Given the description of an element on the screen output the (x, y) to click on. 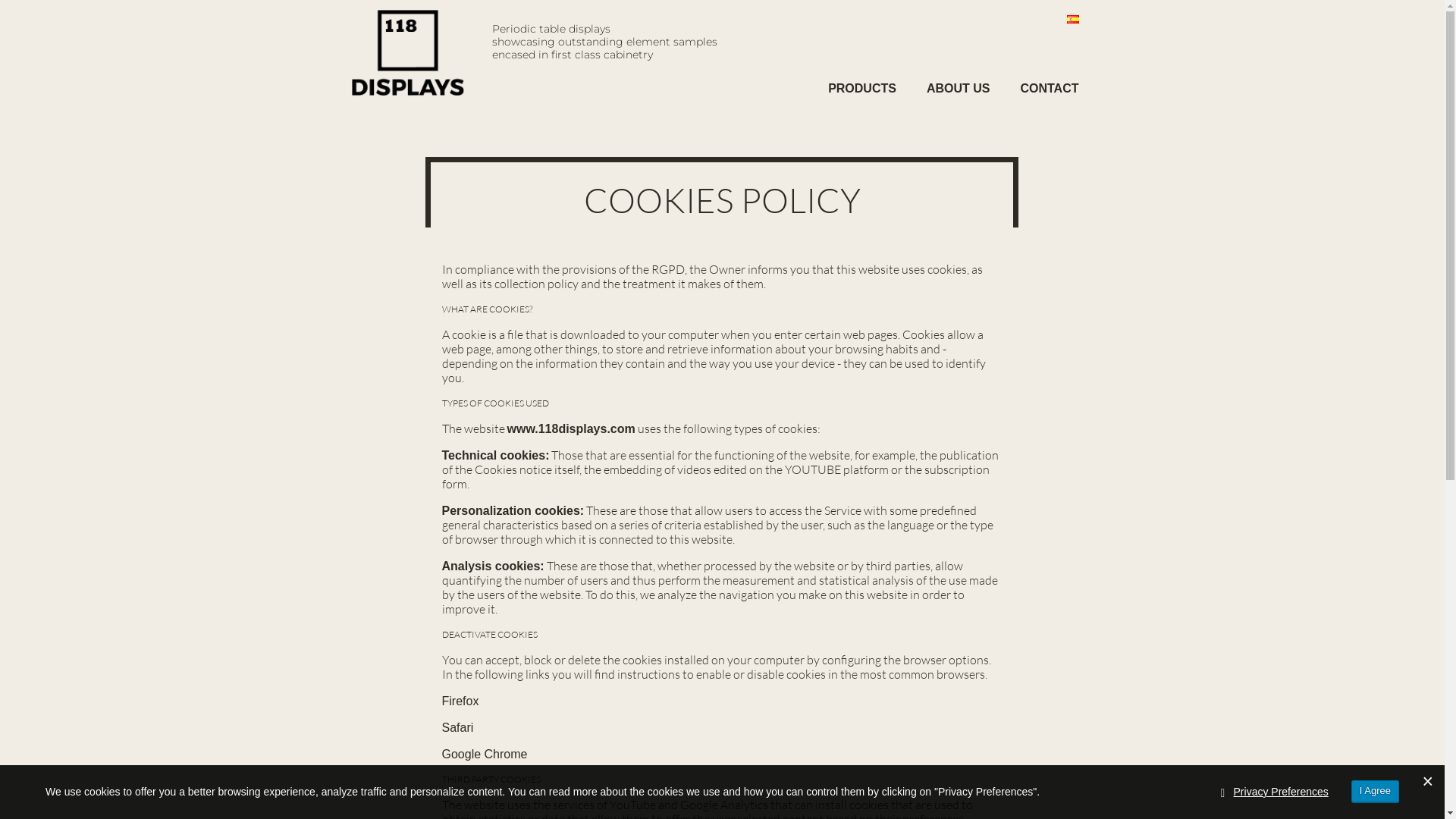
PRODUCTS Element type: text (861, 80)
Safari Element type: text (457, 727)
Privacy Preferences Element type: text (1281, 791)
Google Chrome Element type: text (484, 753)
CONTACT Element type: text (1048, 80)
I Agree Element type: text (1375, 791)
ABOUT US Element type: text (958, 80)
Firefox Element type: text (459, 700)
